Given the description of an element on the screen output the (x, y) to click on. 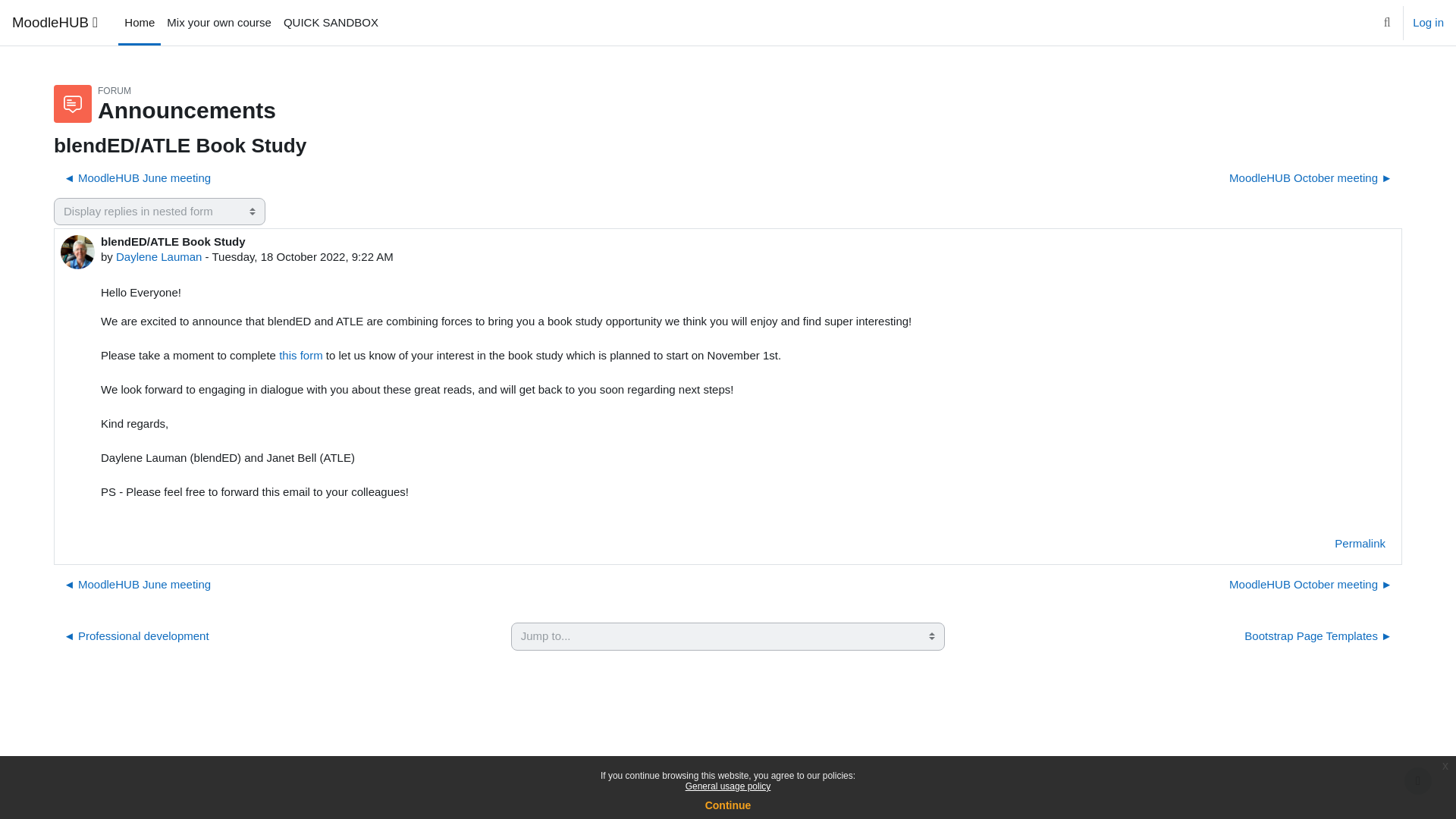
Home (138, 22)
this form (301, 354)
General usage policy (728, 786)
Mix your own course (219, 22)
Permalink (1359, 543)
Picture of Daylene Lauman (77, 252)
Permanent link to this post (1359, 543)
QUICK SANDBOX (331, 22)
Log in (1428, 22)
Daylene Lauman (159, 256)
Continue (727, 805)
